Given the description of an element on the screen output the (x, y) to click on. 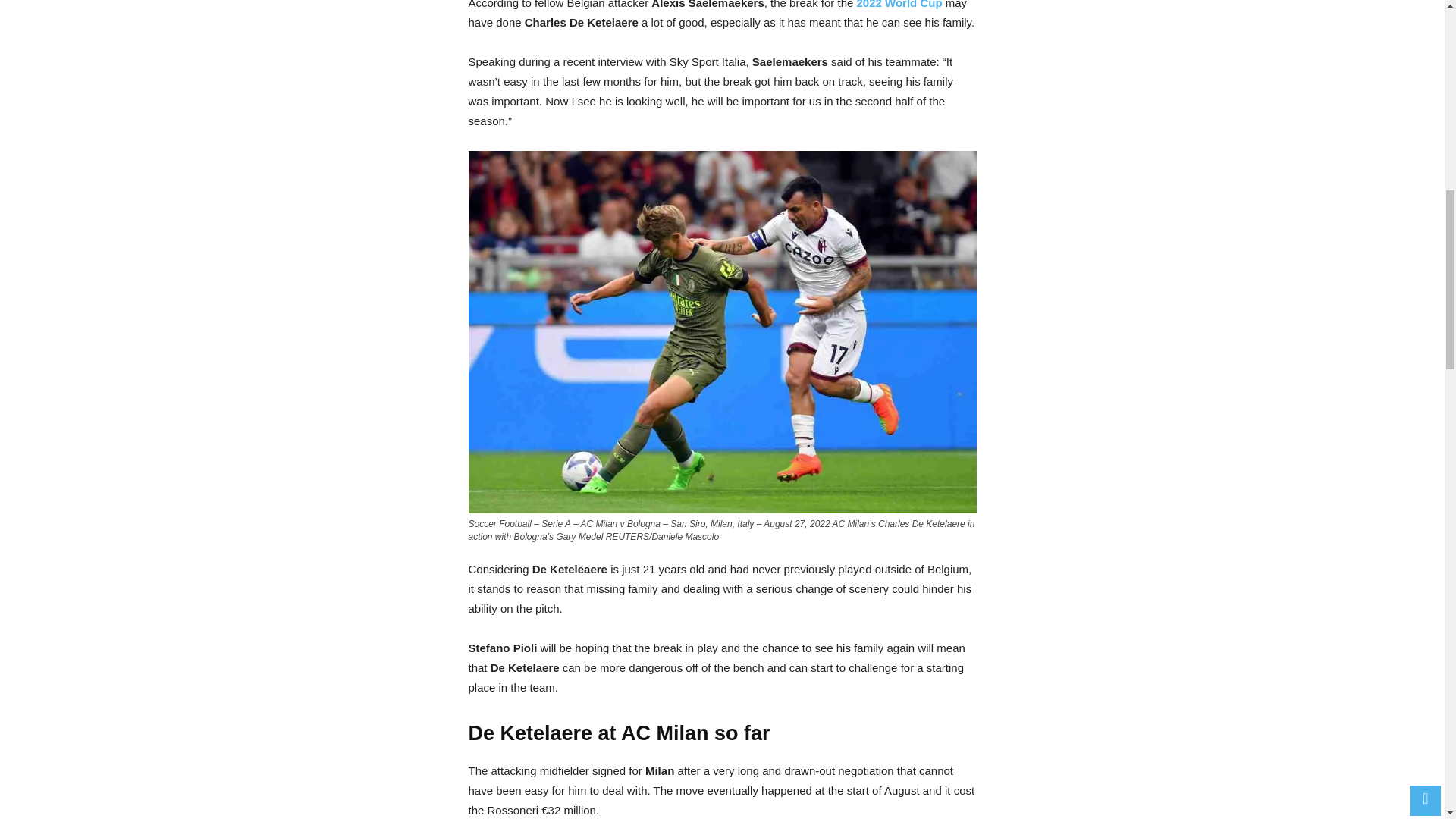
2022 World Cup (899, 4)
